Given the description of an element on the screen output the (x, y) to click on. 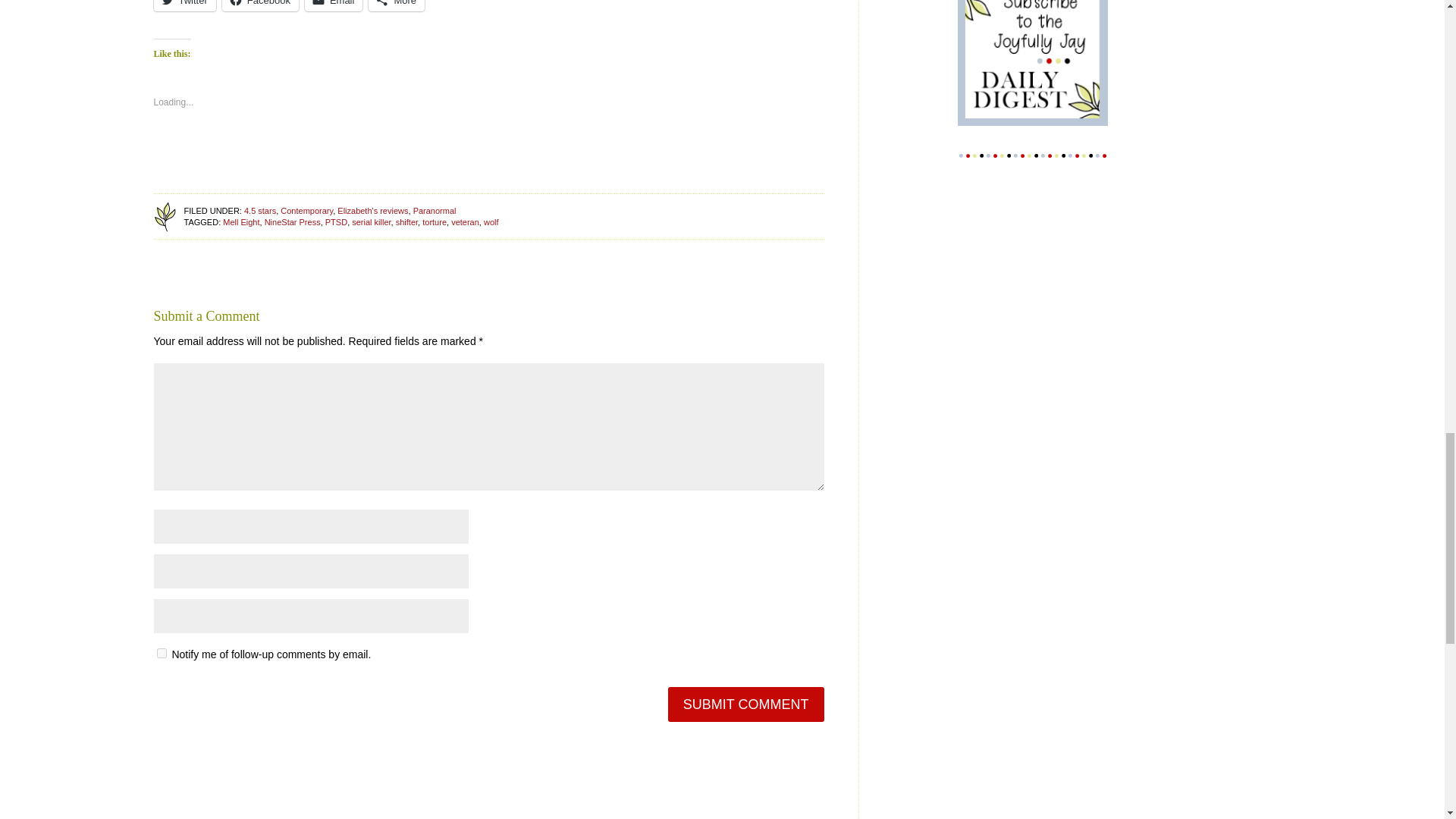
Click to email a link to a friend (333, 5)
Like or Reblog (488, 153)
subscribe (160, 653)
Submit Comment (746, 704)
Click to share on Facebook (260, 5)
Click to share on Twitter (183, 5)
